Given the description of an element on the screen output the (x, y) to click on. 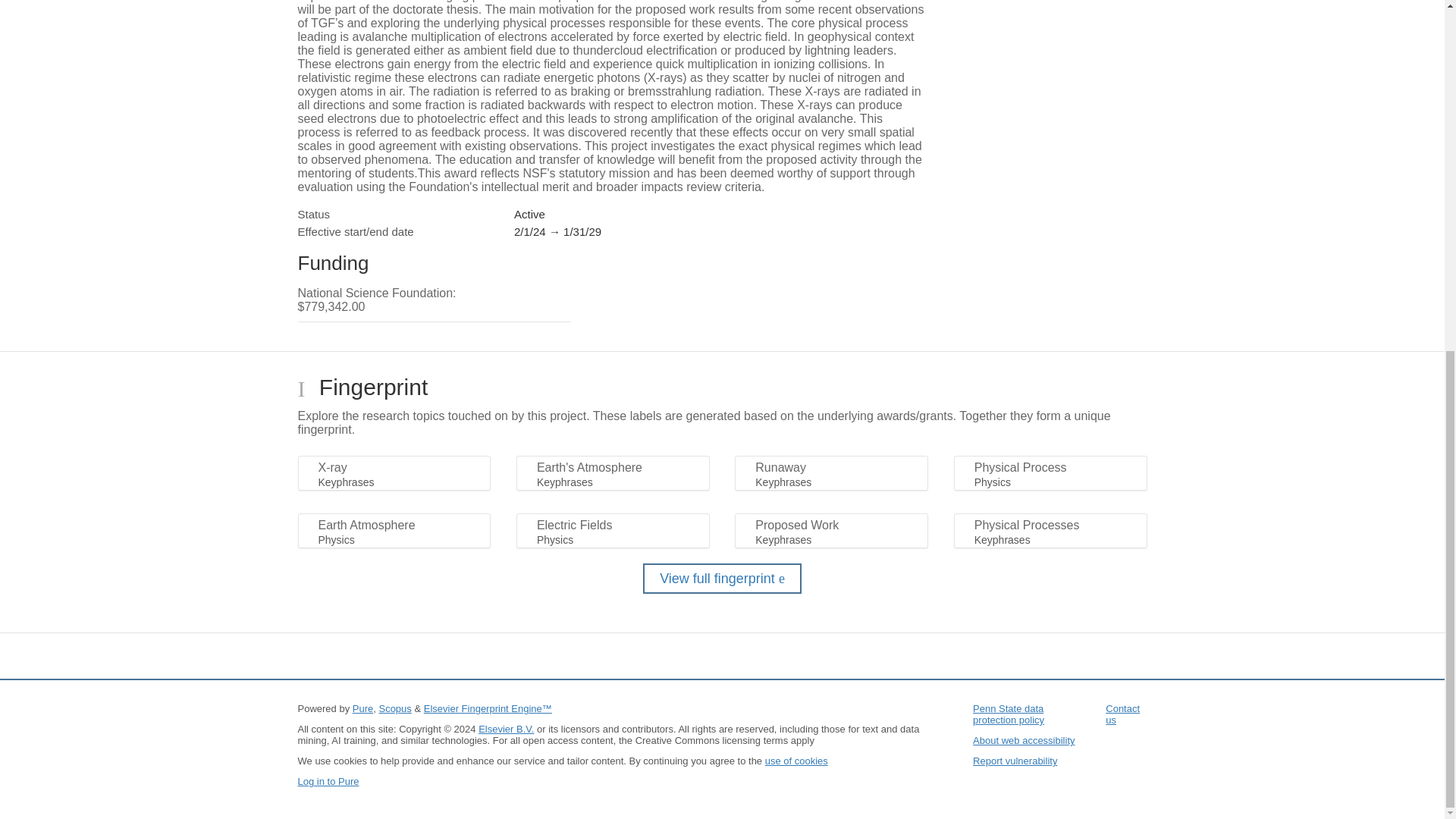
Elsevier B.V. (506, 728)
View full fingerprint (722, 578)
Penn State data protection policy (1007, 713)
use of cookies (796, 760)
Pure (362, 708)
Scopus (394, 708)
Log in to Pure (327, 781)
About web accessibility (1023, 740)
Report vulnerability (1014, 760)
